Given the description of an element on the screen output the (x, y) to click on. 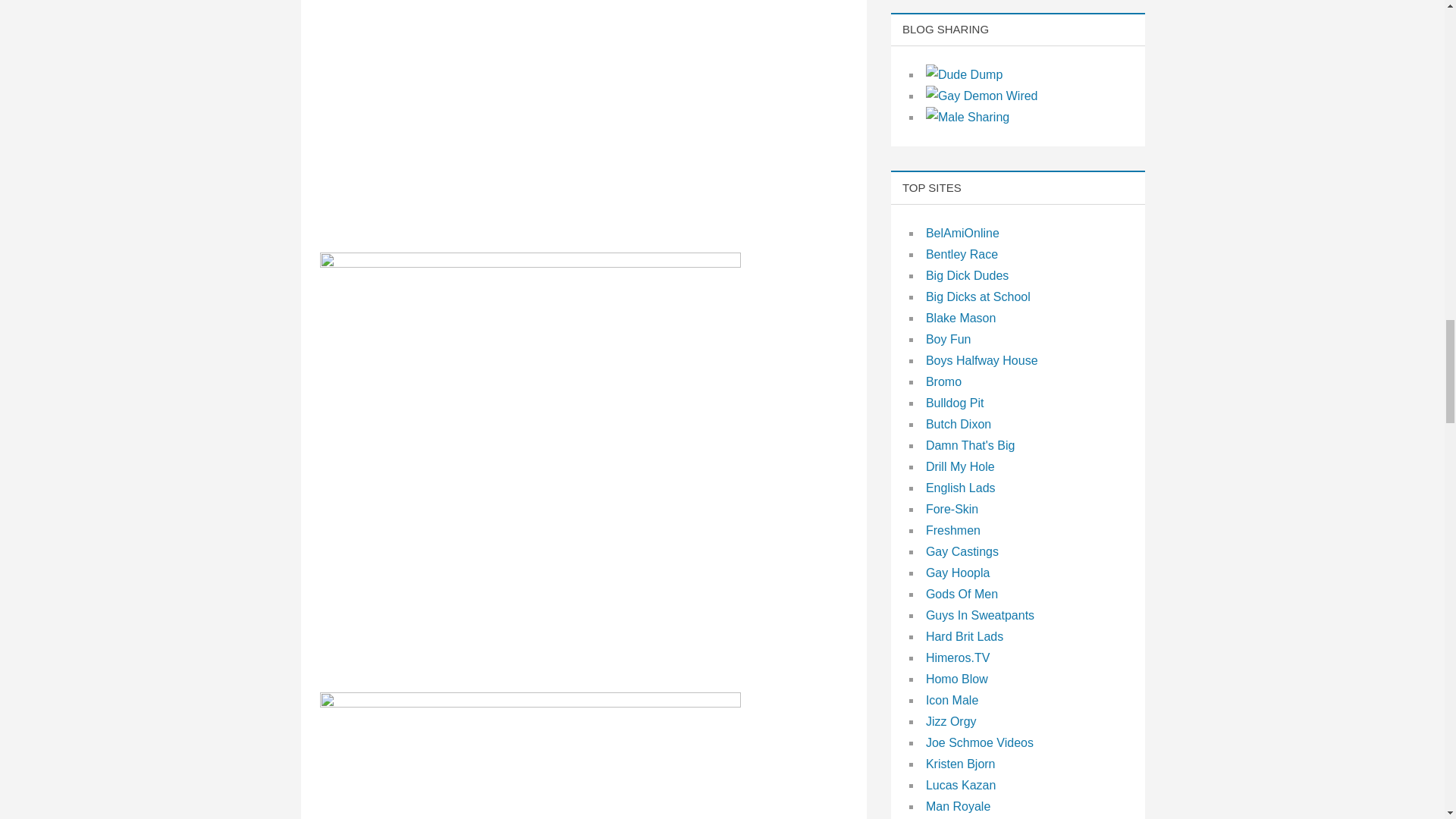
Southern Strokes: Haigan and Cole (530, 755)
Southern Strokes: Haigan and Cole (530, 116)
